Given the description of an element on the screen output the (x, y) to click on. 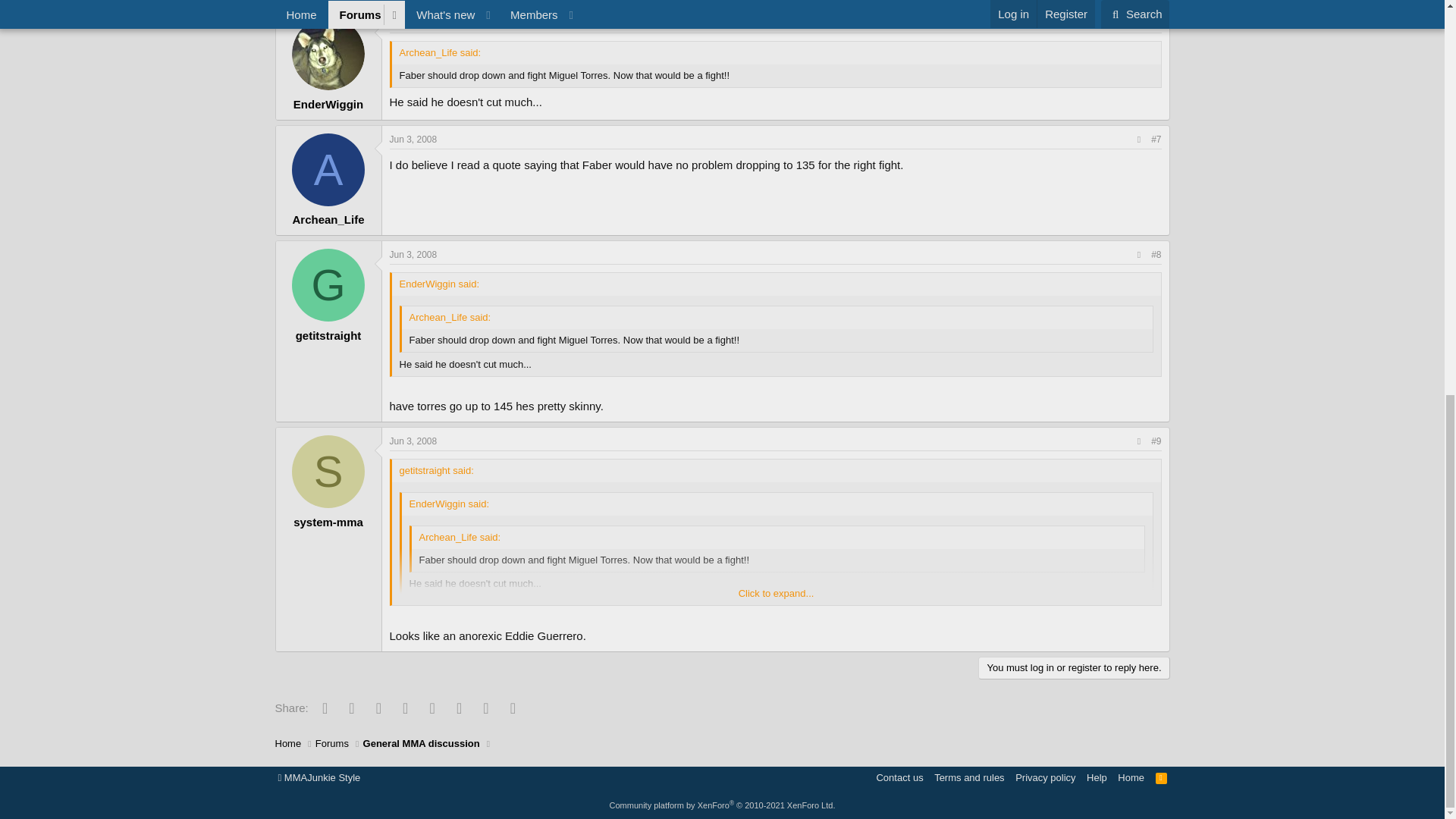
Jun 3, 2008 at 3:58 PM (414, 440)
Jun 3, 2008 at 3:41 PM (414, 23)
Jun 3, 2008 at 3:50 PM (414, 139)
Jun 3, 2008 at 3:51 PM (414, 254)
RSS (1161, 777)
